Given the description of an element on the screen output the (x, y) to click on. 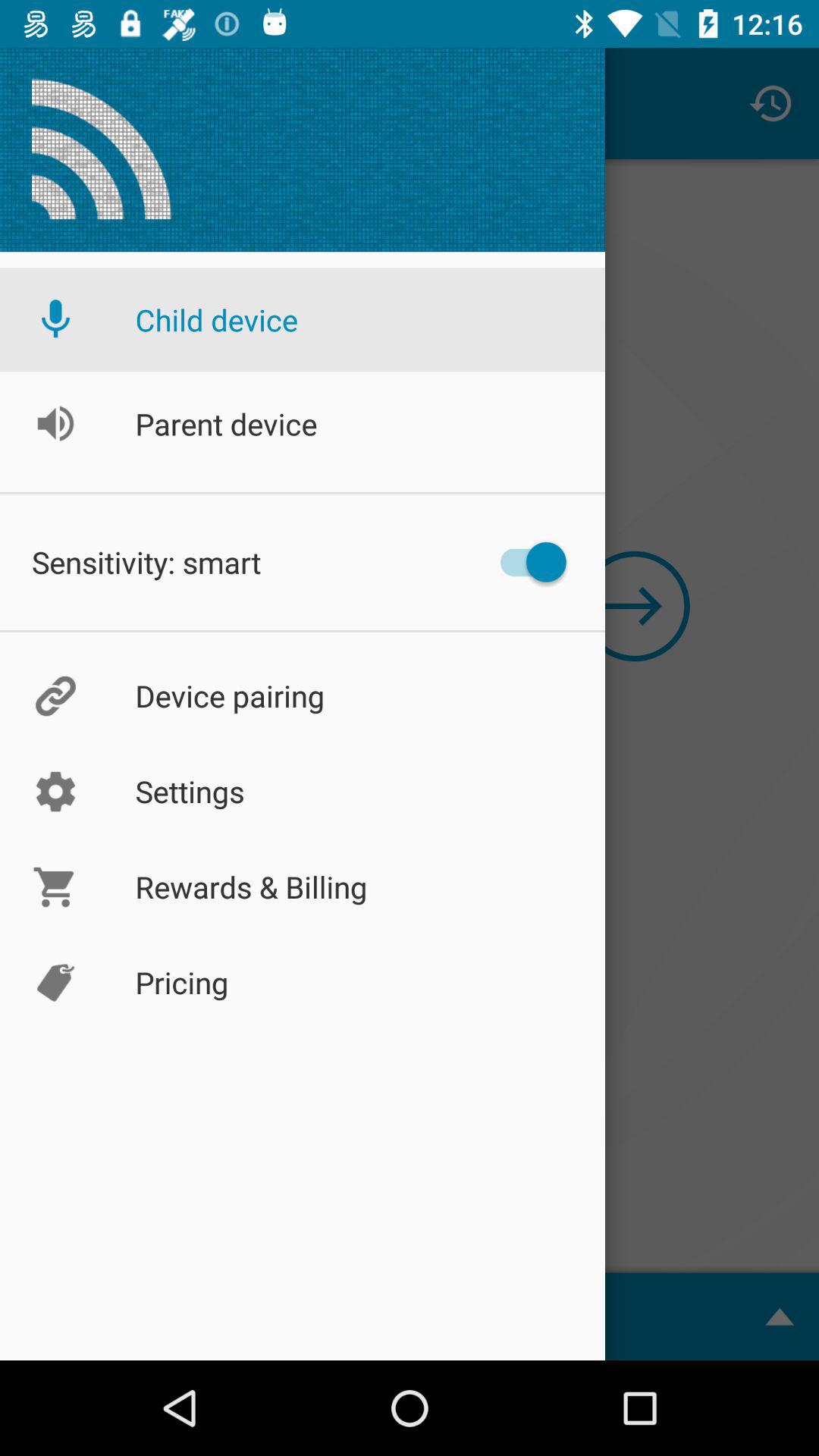
select a icon which is above child device option (101, 149)
select the cart icon which is before rewards  billing (55, 887)
click on clock (771, 103)
